Given the description of an element on the screen output the (x, y) to click on. 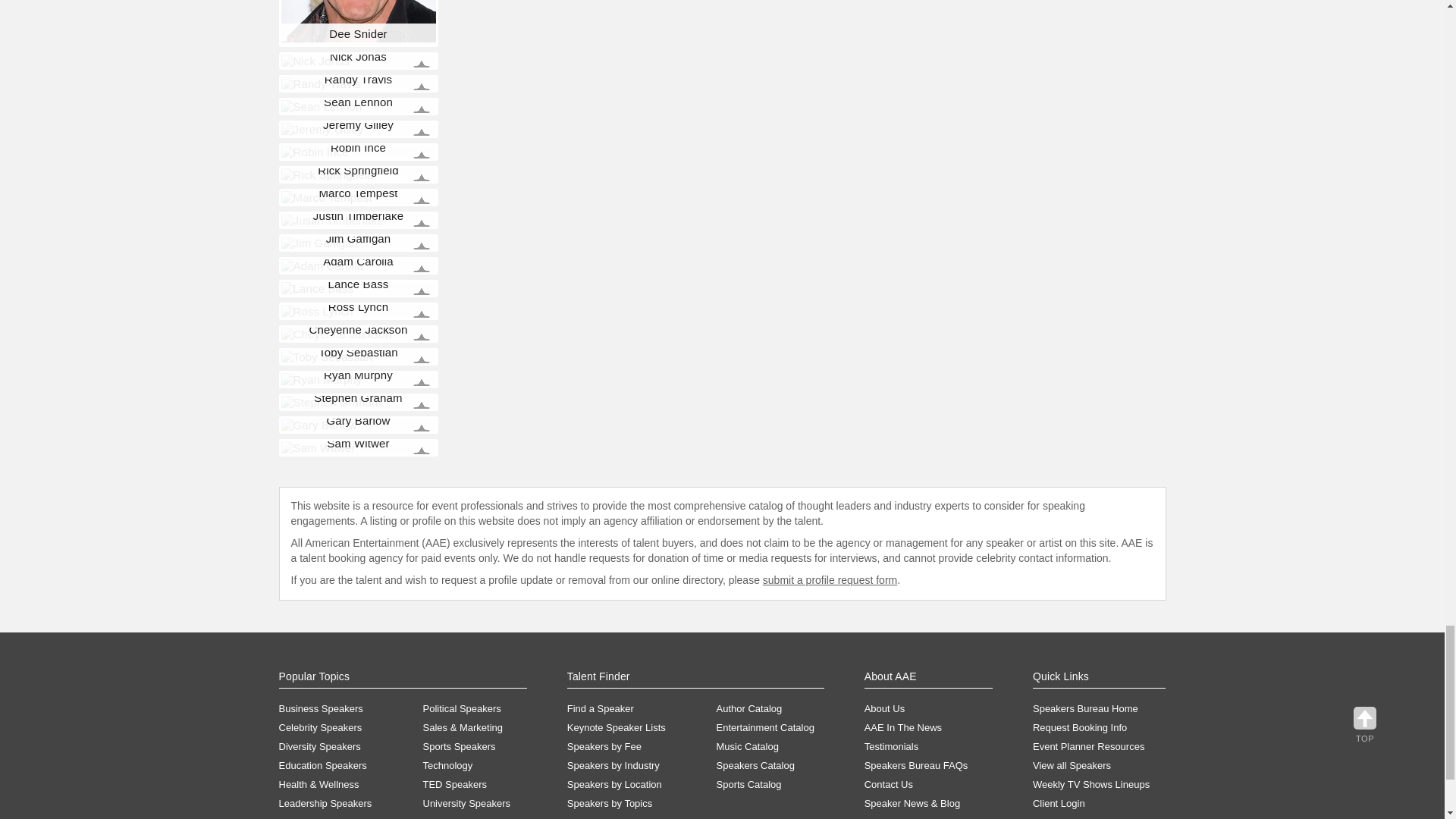
Nick Jonas (315, 60)
Randy Travis (320, 83)
Dee Snider (358, 21)
